Given the description of an element on the screen output the (x, y) to click on. 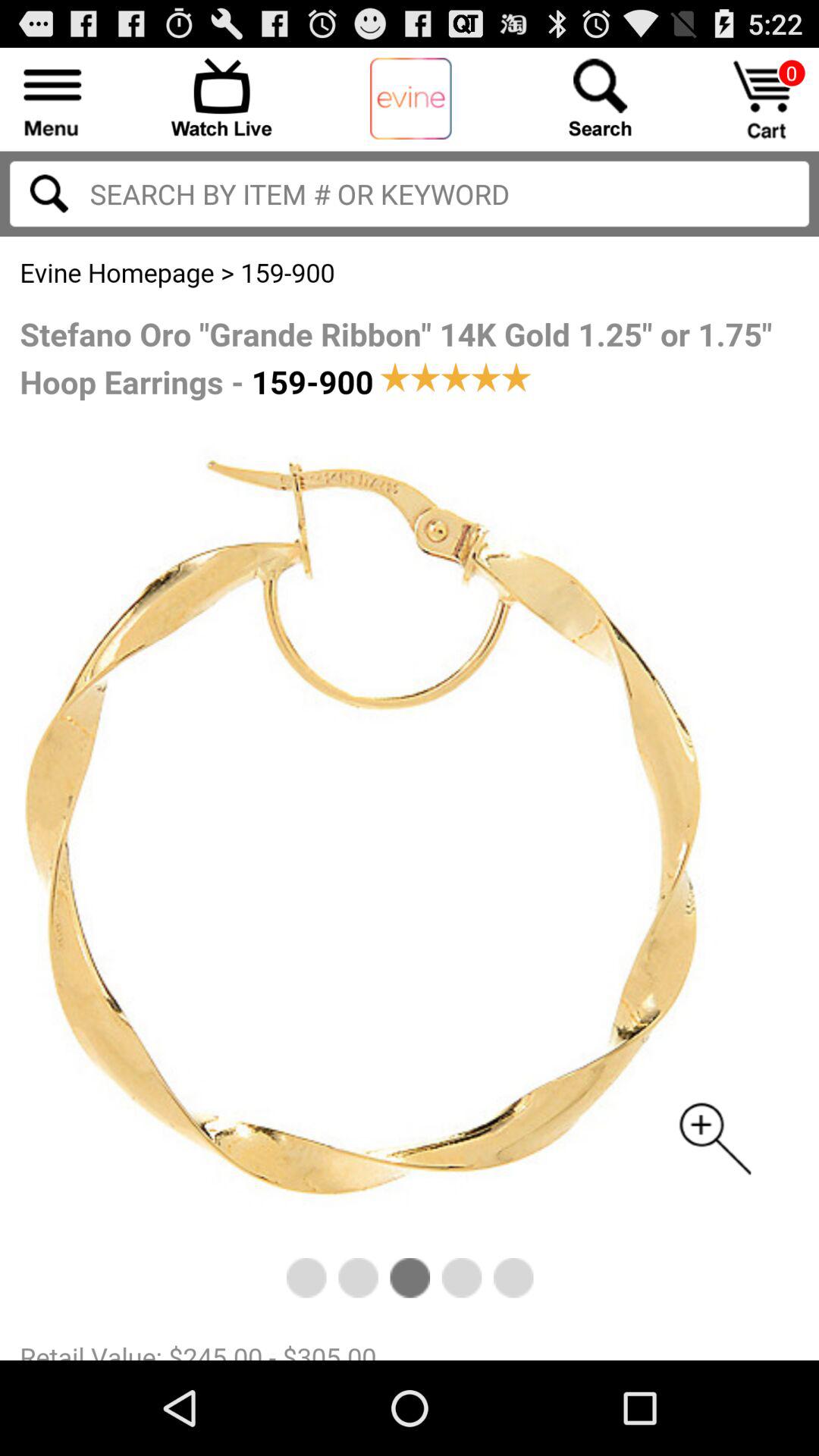
evine (410, 99)
